Given the description of an element on the screen output the (x, y) to click on. 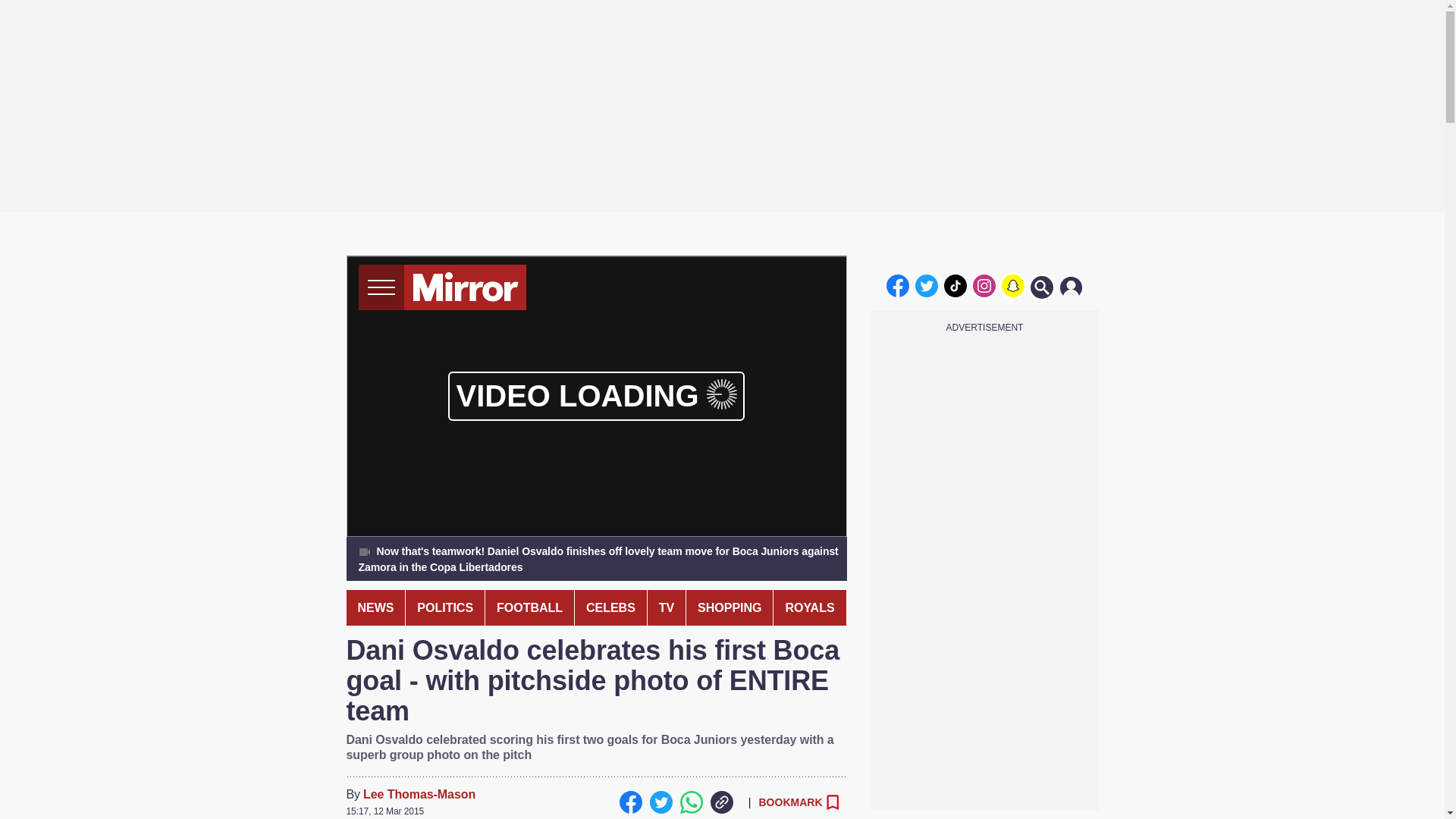
POLITICS (445, 607)
FOOTBALL (528, 607)
ROYALS (809, 607)
SHOPPING (729, 607)
tiktok (955, 285)
instagram (984, 285)
CELEBS (610, 607)
TV (666, 607)
snapchat (1012, 285)
facebook (897, 285)
